Given the description of an element on the screen output the (x, y) to click on. 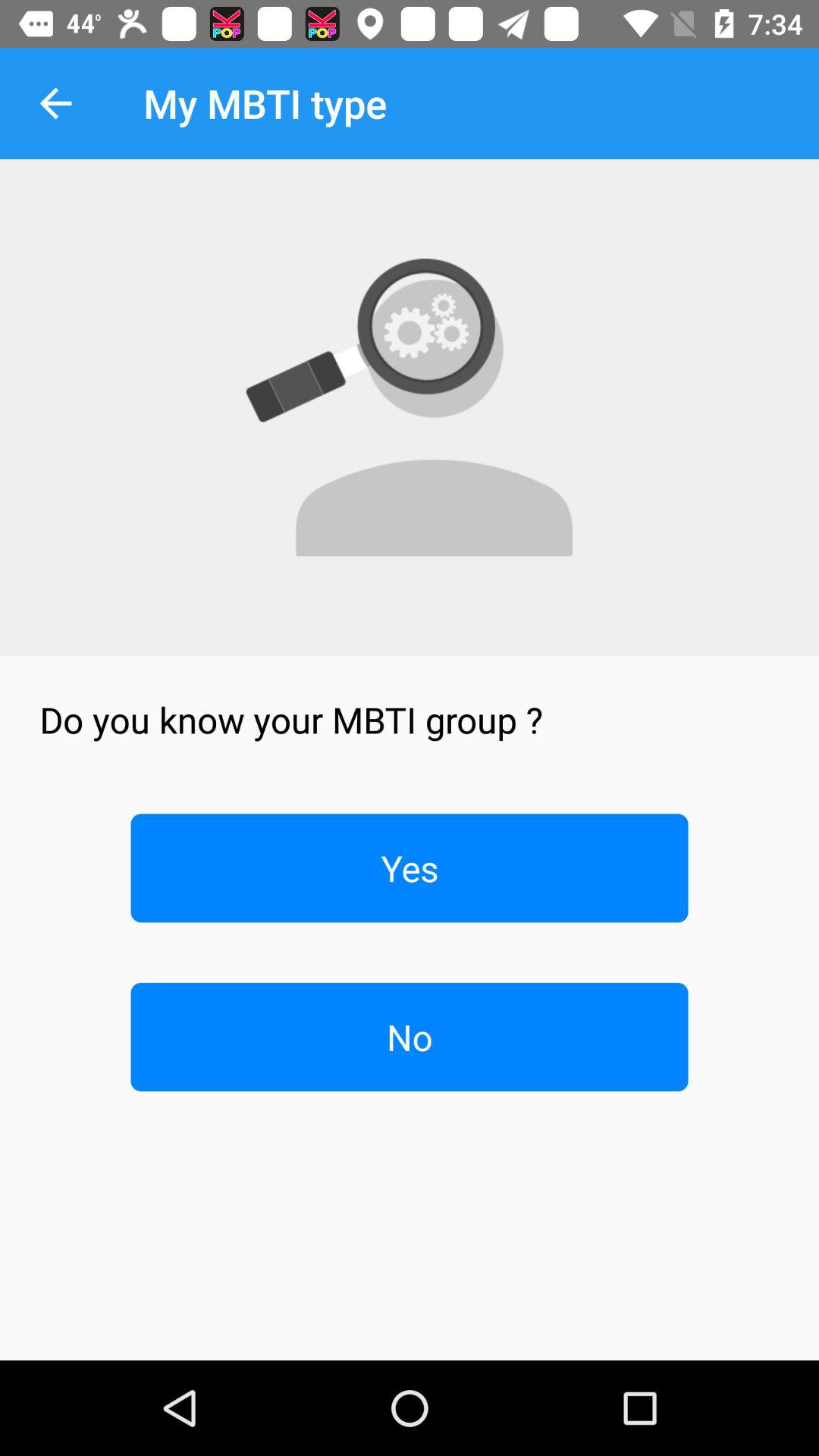
swipe until the yes (409, 867)
